Given the description of an element on the screen output the (x, y) to click on. 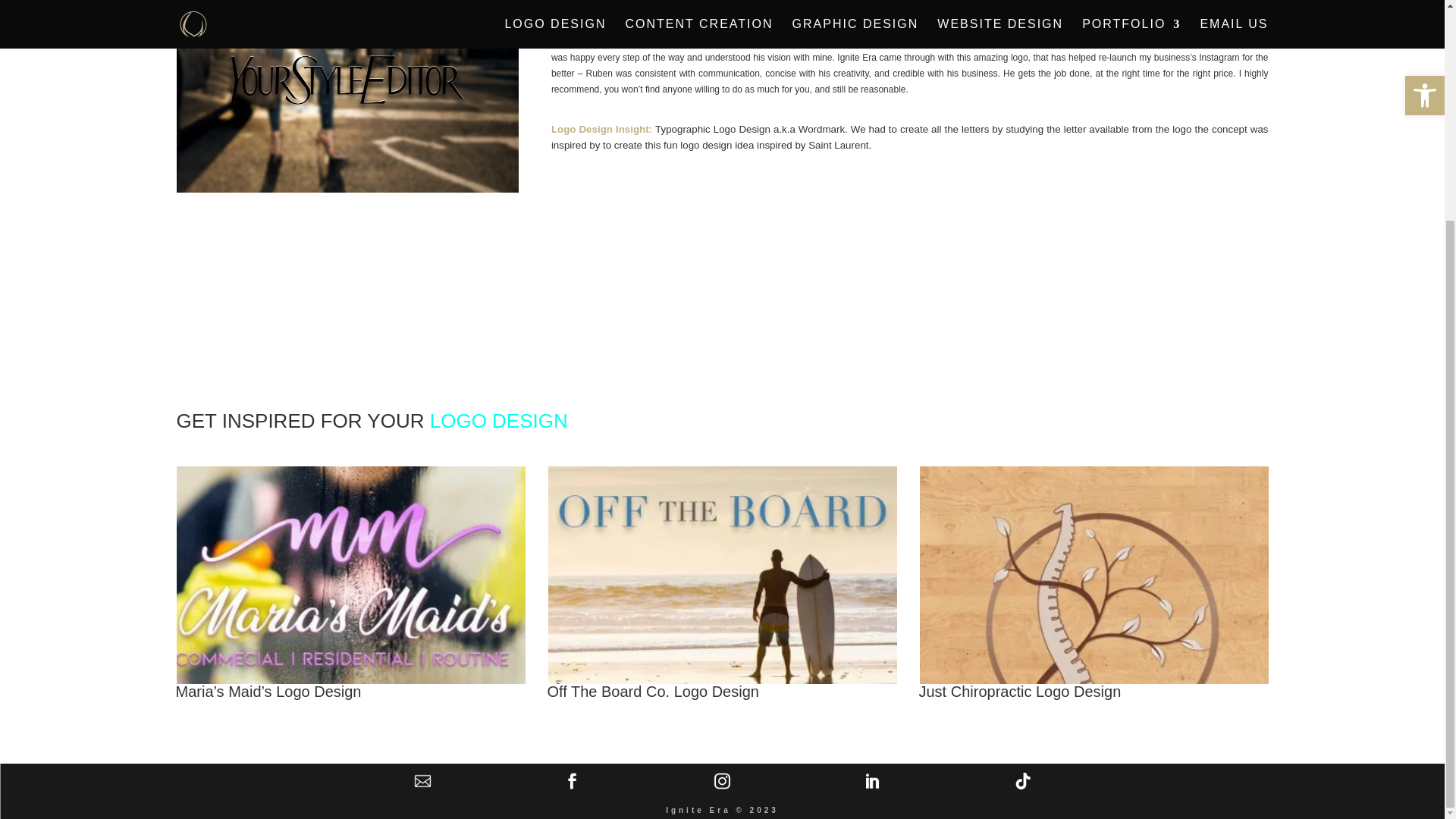
Just Chiropractic Logo Design (1019, 691)
your-style-editor-typographic-logo-featured (347, 96)
Off The Board Co. Logo Design (652, 691)
